Given the description of an element on the screen output the (x, y) to click on. 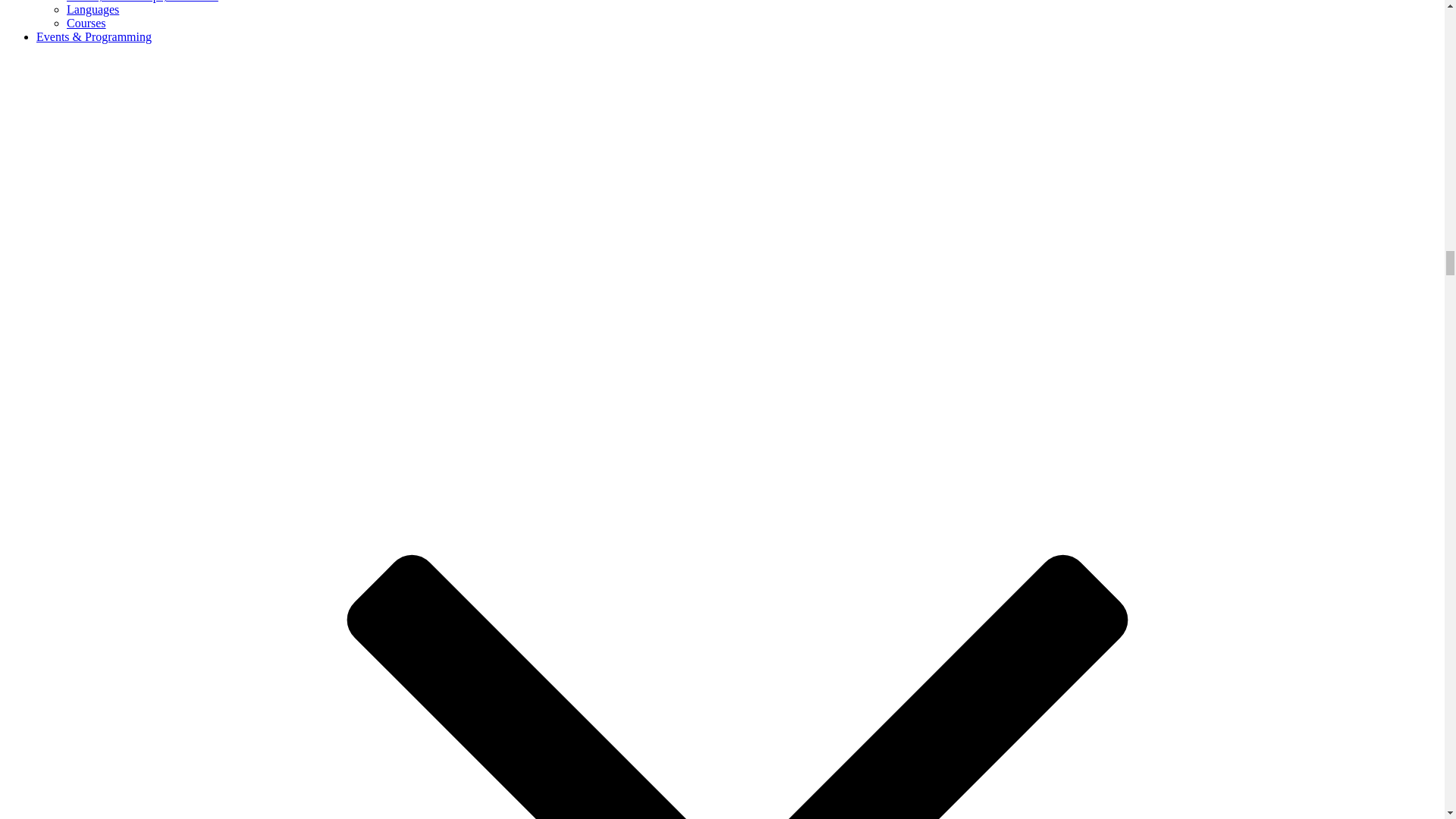
Courses (86, 22)
Languages (92, 9)
